Given the description of an element on the screen output the (x, y) to click on. 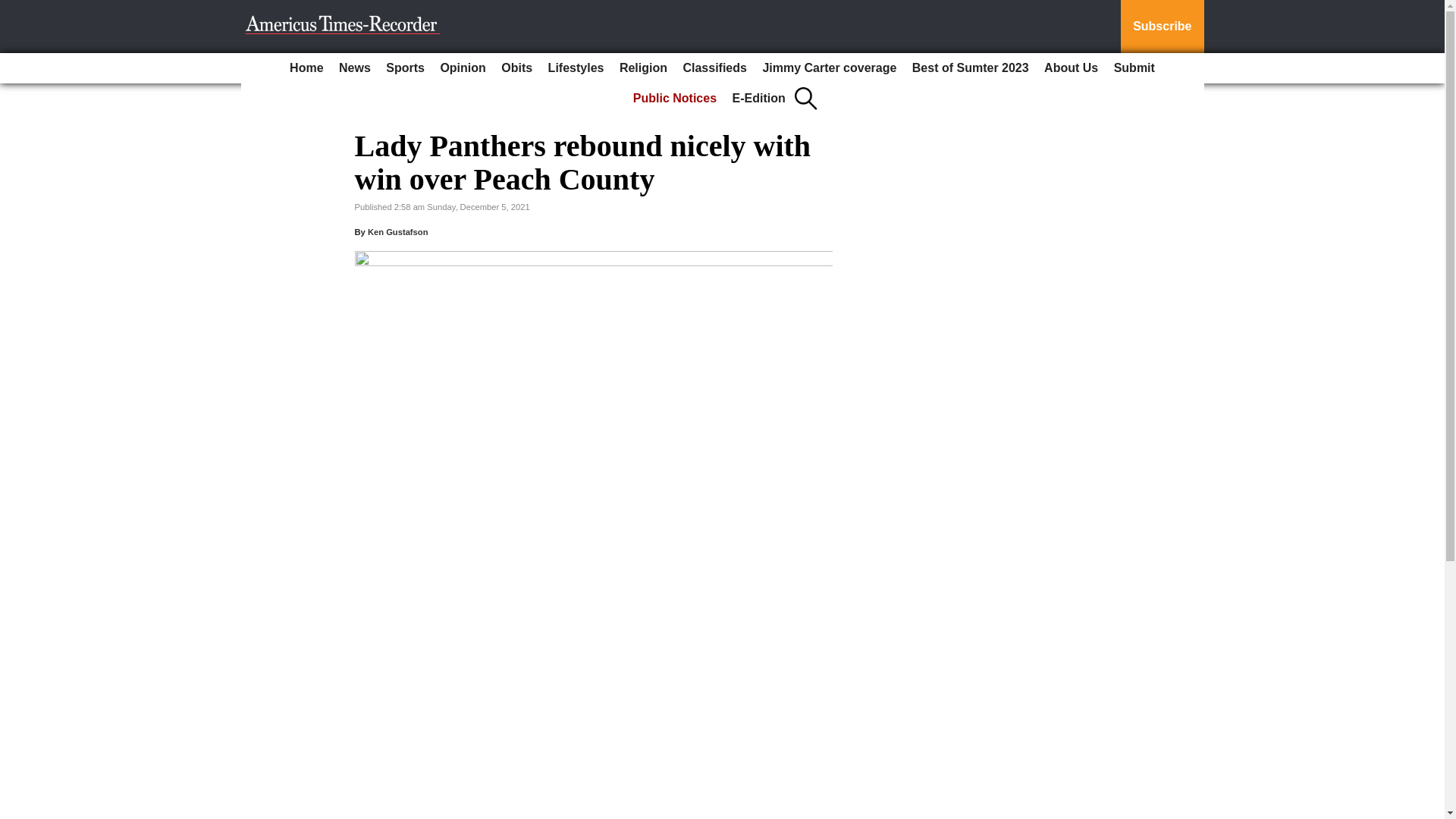
E-Edition (759, 98)
News (355, 68)
Home (306, 68)
About Us (1070, 68)
Jimmy Carter coverage (828, 68)
Religion (642, 68)
Go (13, 9)
Ken Gustafson (398, 231)
Opinion (462, 68)
Lifestyles (575, 68)
